Given the description of an element on the screen output the (x, y) to click on. 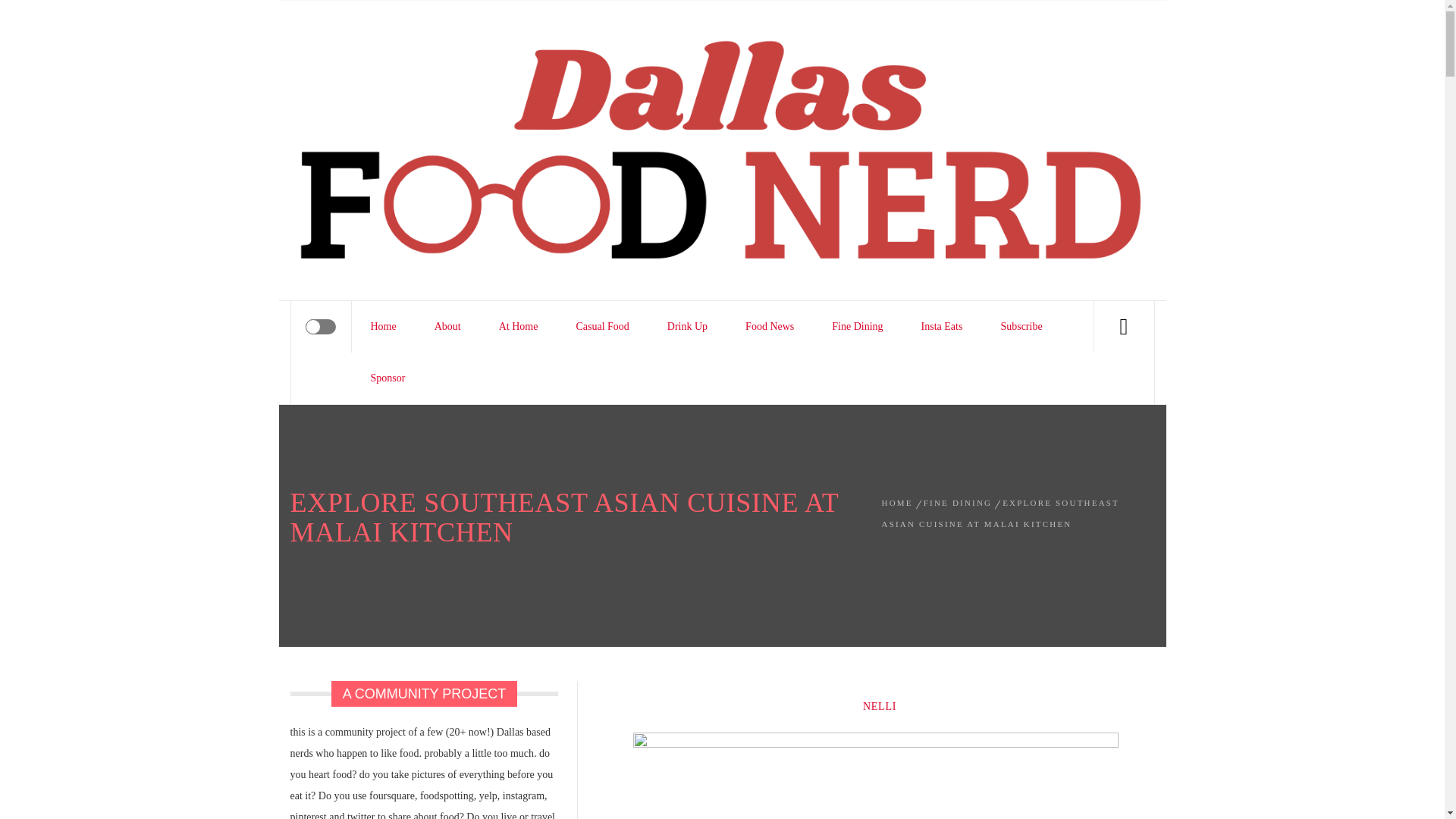
At Home (518, 326)
Subscribe (1021, 326)
About (447, 326)
HOME (898, 501)
Sponsor (388, 378)
Fine Dining (856, 326)
DallasFoodNerd (475, 51)
Food News (769, 326)
Insta Eats (941, 326)
Search (797, 41)
